Given the description of an element on the screen output the (x, y) to click on. 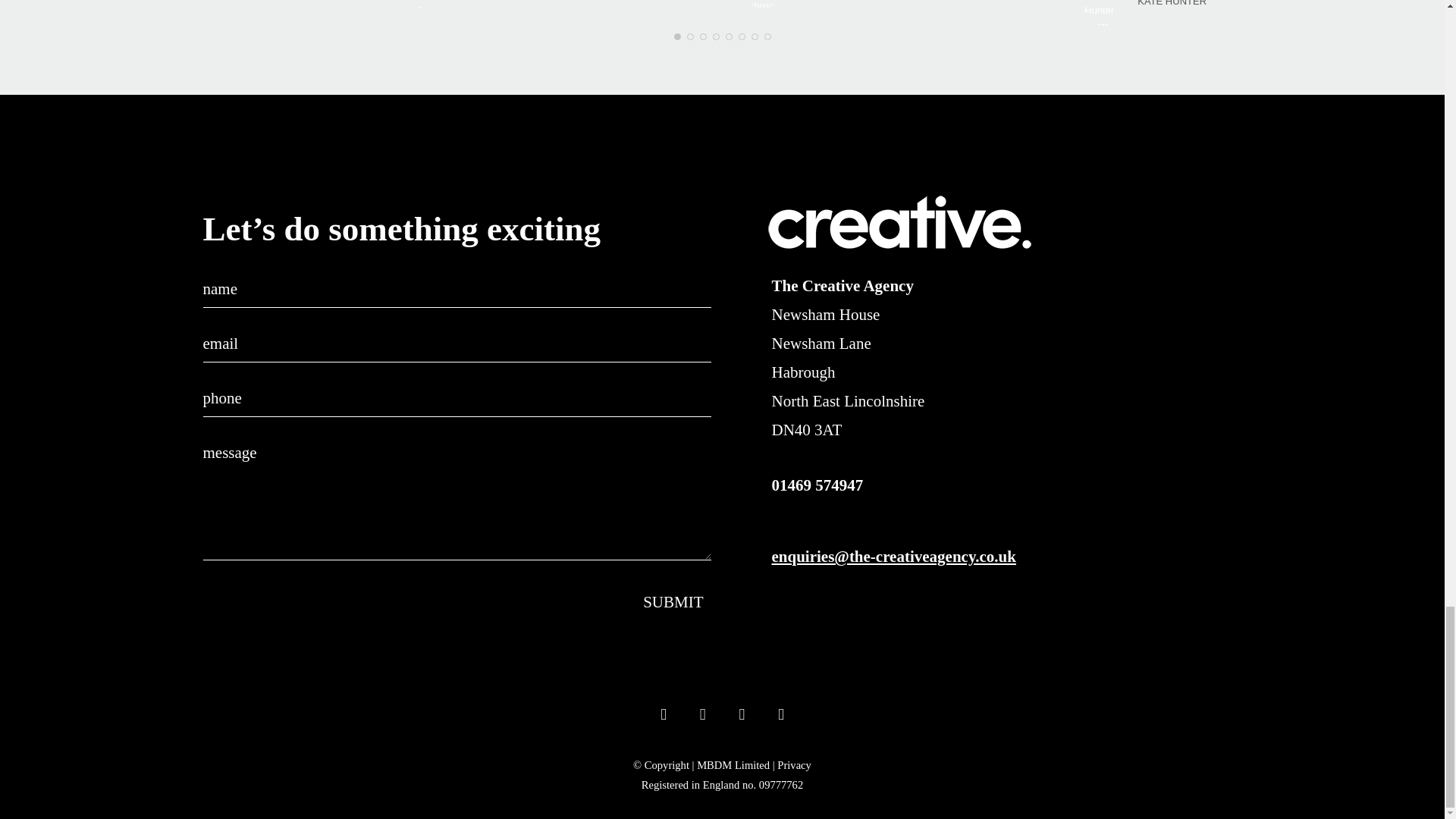
Submit (676, 601)
